Given the description of an element on the screen output the (x, y) to click on. 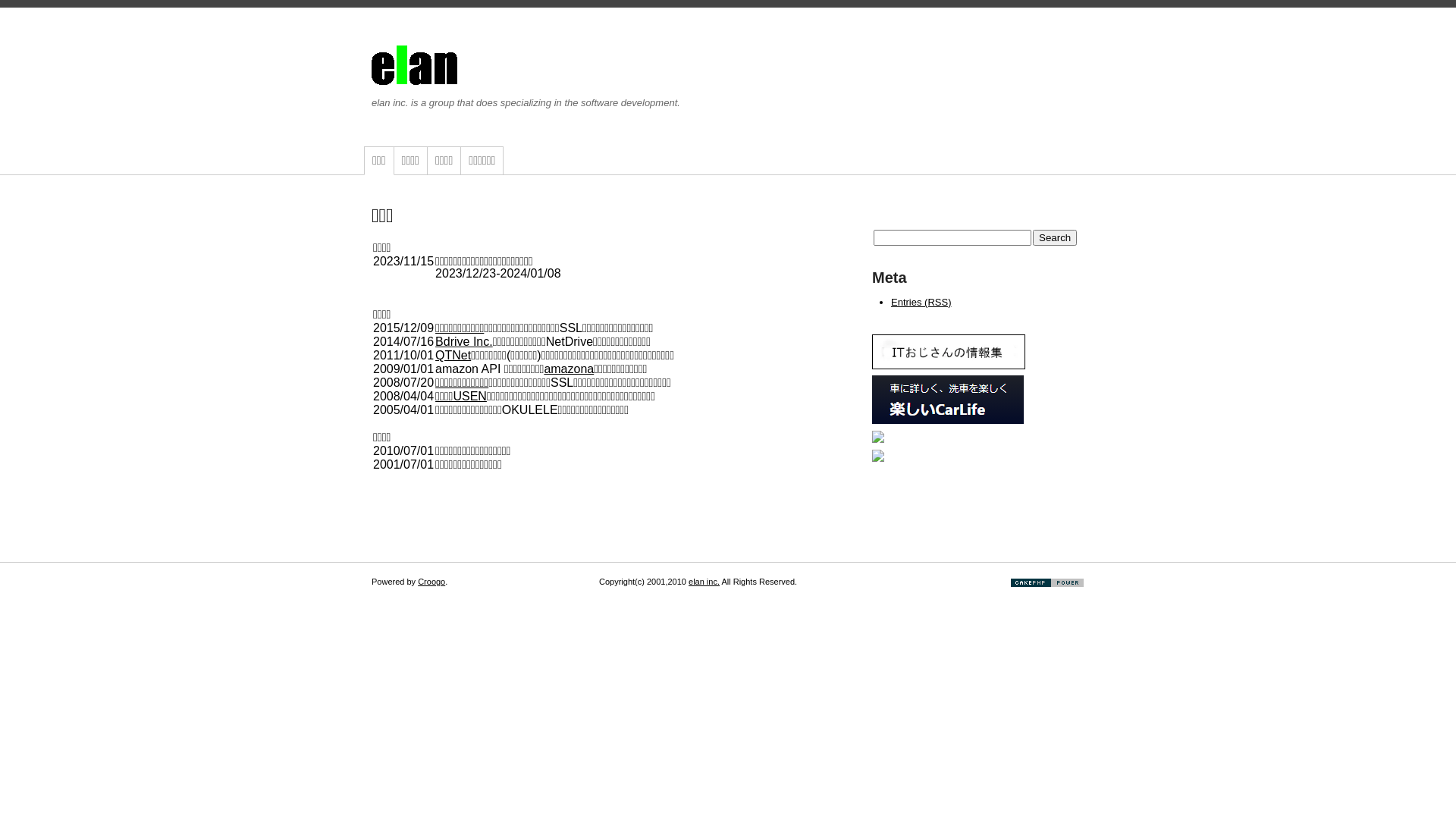
QTNet Element type: text (452, 354)
Croogo Element type: text (431, 581)
Bdrive Inc. Element type: text (463, 341)
elan inc. Element type: text (703, 581)
amazona Element type: text (568, 368)
Search Element type: text (1054, 237)
Entries (RSS) Element type: text (920, 301)
